Given the description of an element on the screen output the (x, y) to click on. 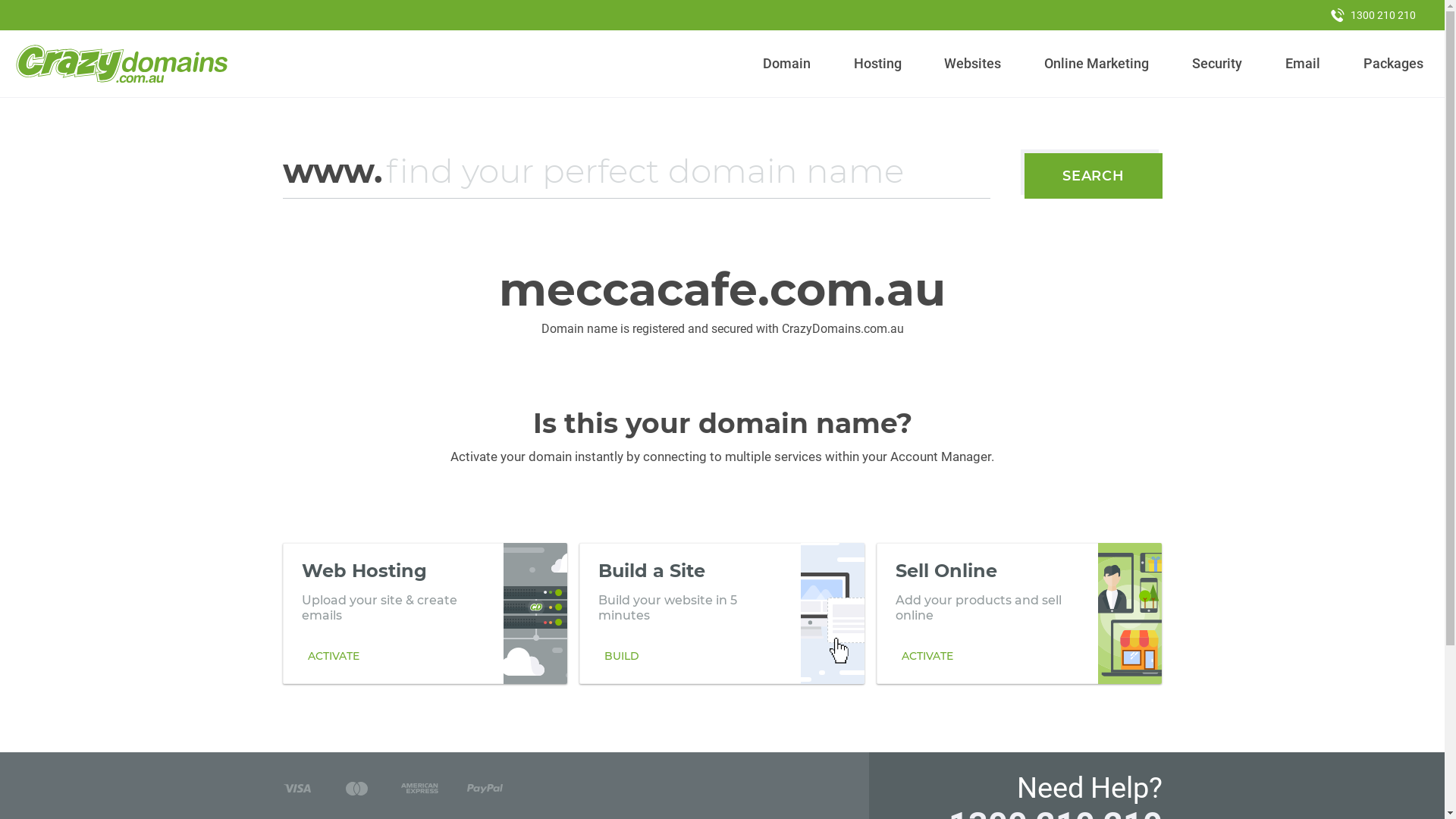
Sell Online
Add your products and sell online
ACTIVATE Element type: text (1018, 613)
SEARCH Element type: text (1092, 175)
Security Element type: text (1217, 63)
Domain Element type: text (786, 63)
Online Marketing Element type: text (1096, 63)
Build a Site
Build your website in 5 minutes
BUILD Element type: text (721, 613)
Websites Element type: text (972, 63)
1300 210 210 Element type: text (1373, 15)
Web Hosting
Upload your site & create emails
ACTIVATE Element type: text (424, 613)
Email Element type: text (1302, 63)
Hosting Element type: text (877, 63)
Packages Element type: text (1392, 63)
